Given the description of an element on the screen output the (x, y) to click on. 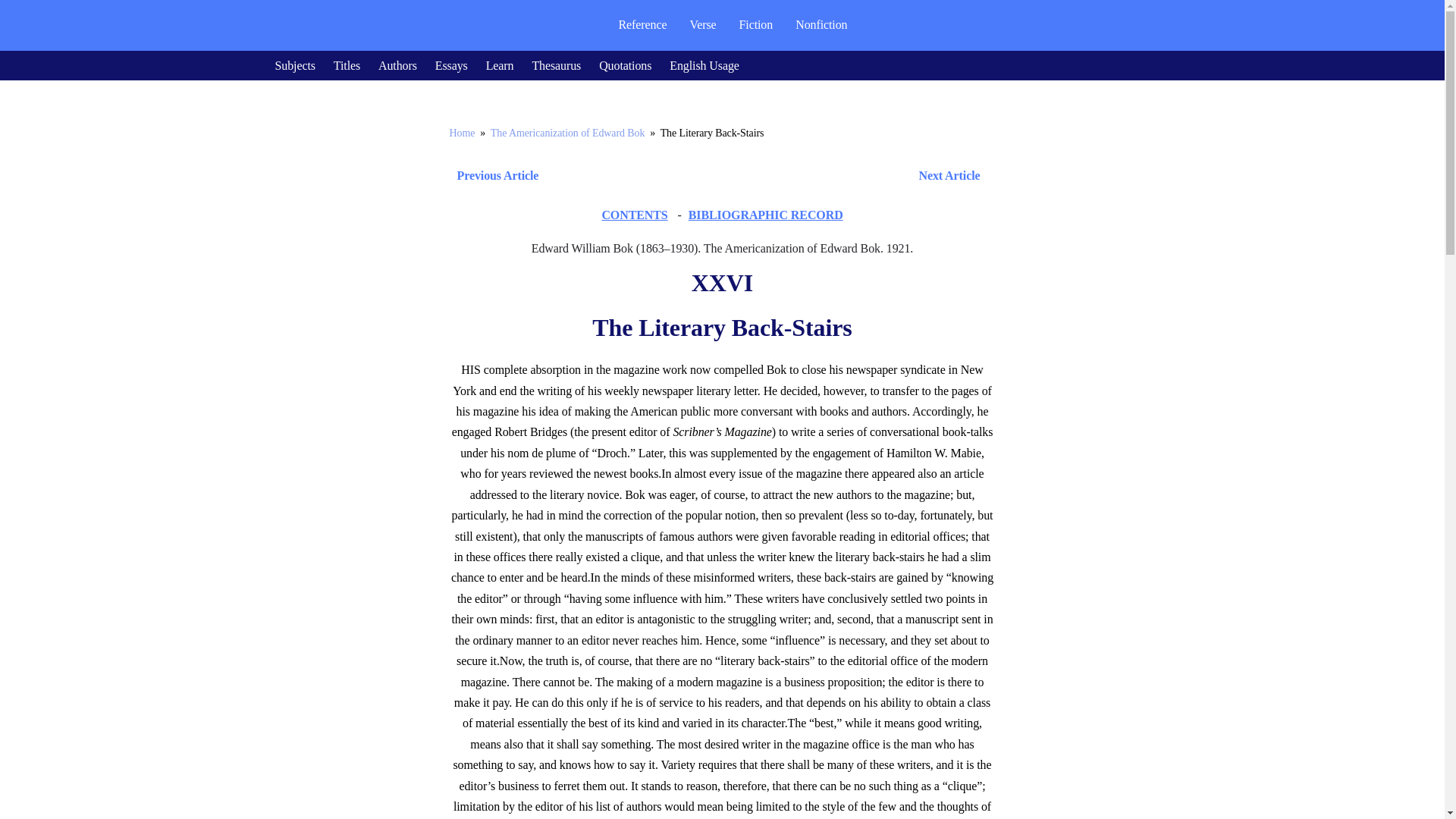
Essays (451, 65)
Learn (499, 65)
Previous Article (493, 175)
Nonfiction (821, 24)
English Usage (704, 65)
BIBLIOGRAPHIC RECORD (765, 214)
Verse (702, 24)
The Americanization of Edward Bok (567, 132)
Authors (397, 65)
Home (461, 132)
CONTENTS (633, 214)
Subjects (294, 65)
Reference (642, 24)
Fiction (756, 24)
